Given the description of an element on the screen output the (x, y) to click on. 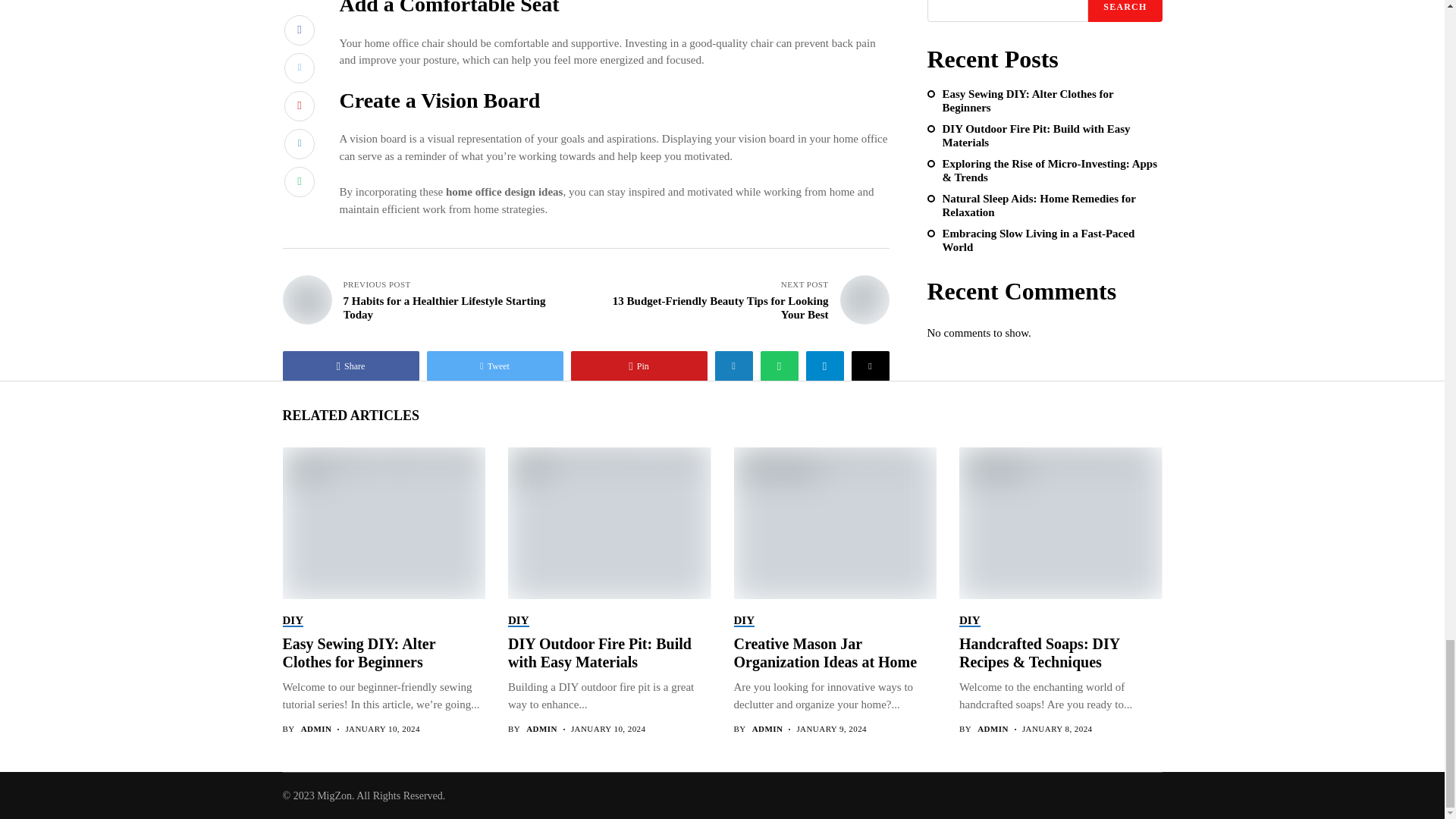
Posts by admin (316, 728)
Share (350, 366)
Posts by admin (767, 728)
Posts by admin (992, 728)
Tweet (494, 366)
Pin (638, 366)
Posts by admin (541, 728)
